Given the description of an element on the screen output the (x, y) to click on. 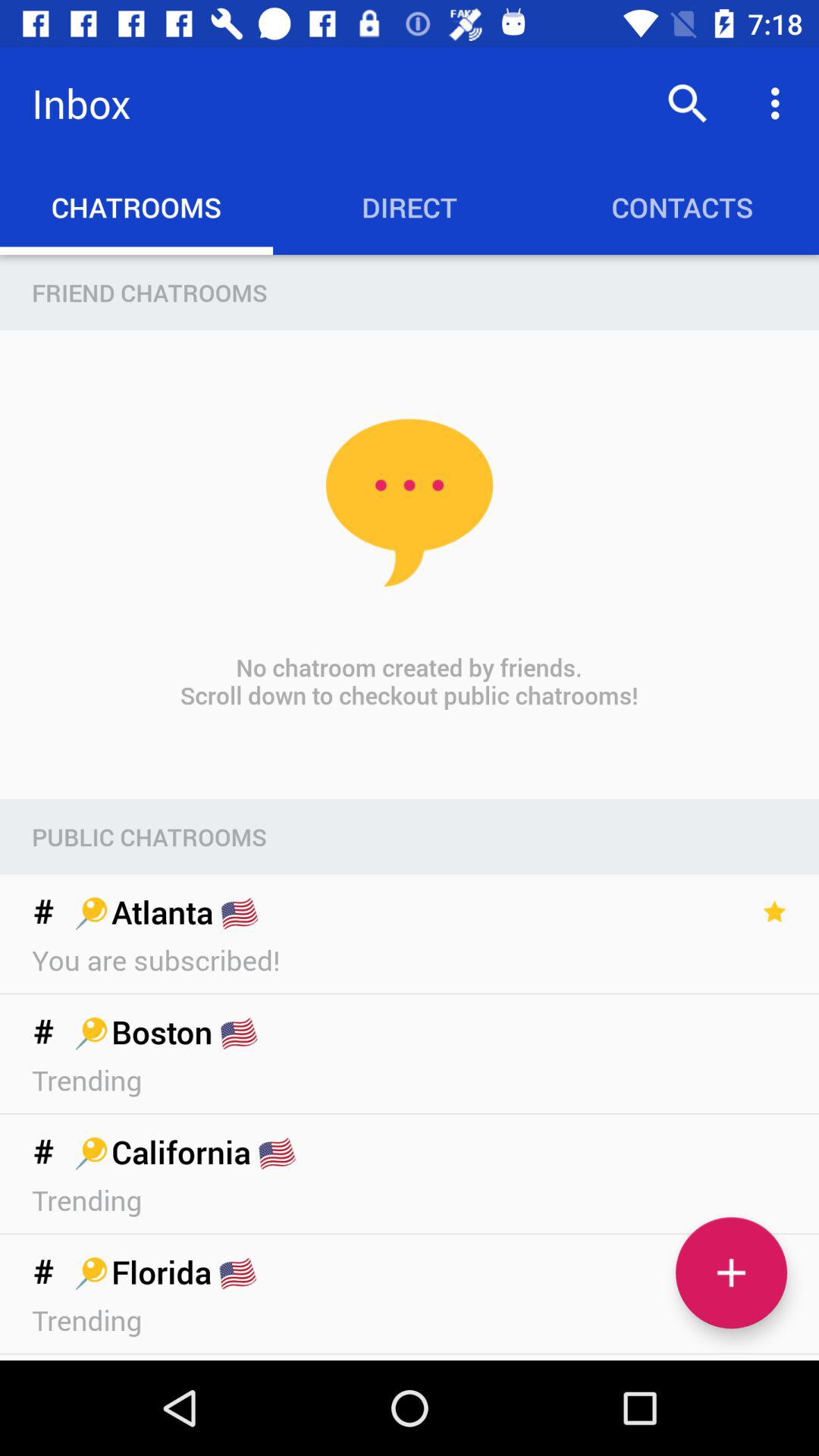
add a chatroom (731, 1272)
